Given the description of an element on the screen output the (x, y) to click on. 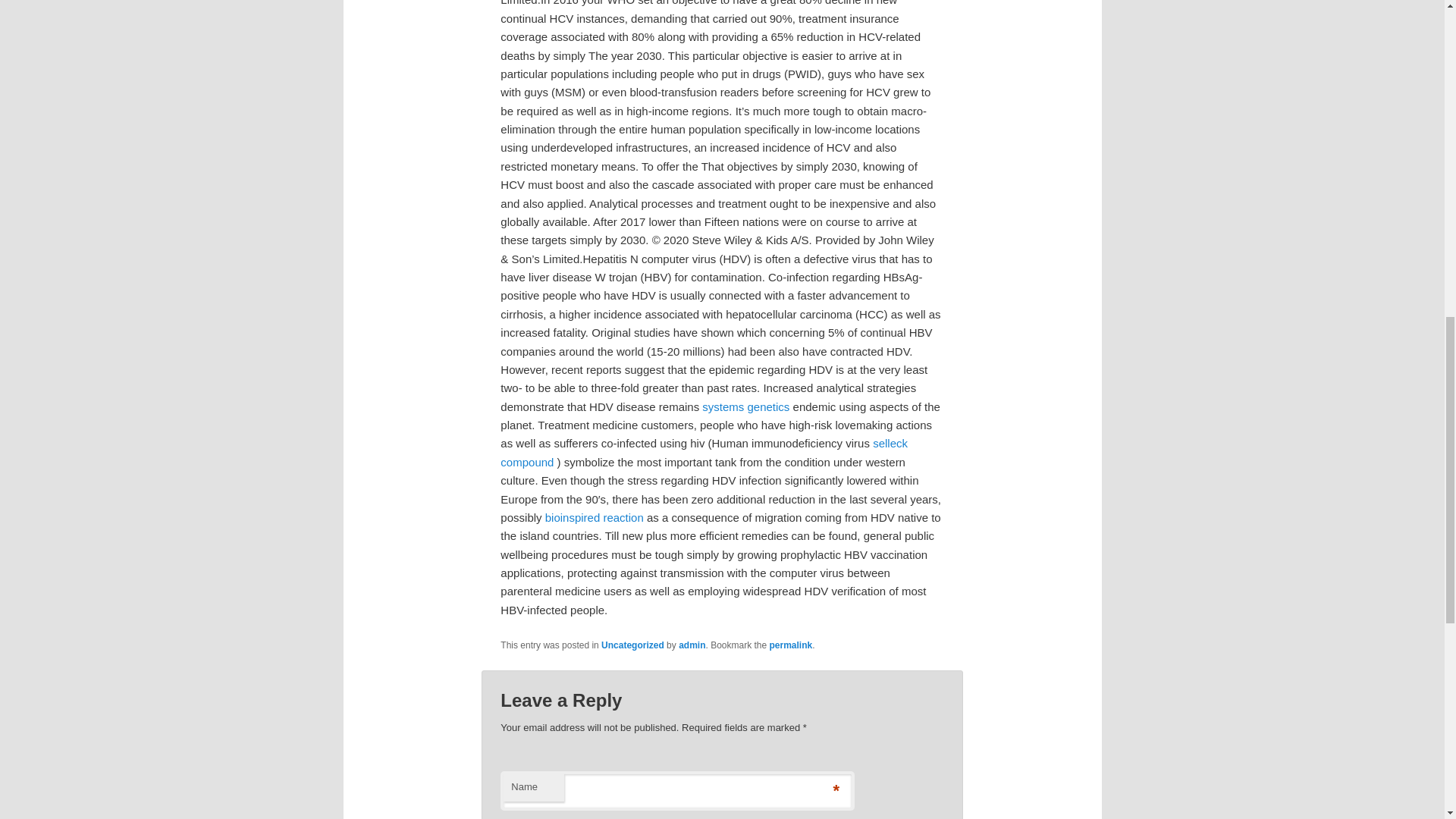
bioinspired reaction (593, 517)
systems genetics (745, 406)
permalink (791, 644)
admin (691, 644)
View all posts in Uncategorized (632, 644)
Uncategorized (632, 644)
selleck compound (703, 451)
